Given the description of an element on the screen output the (x, y) to click on. 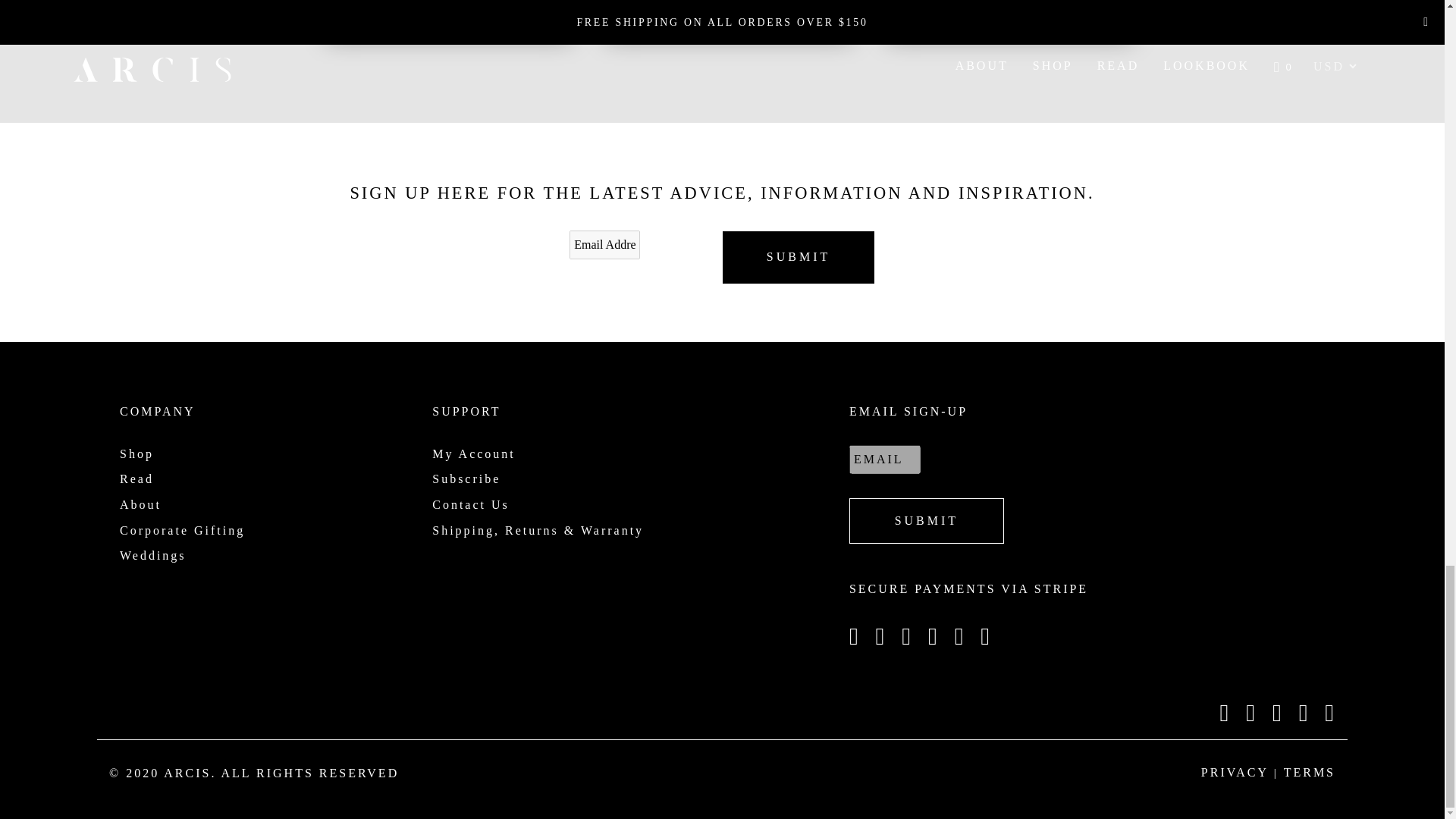
Read (136, 478)
Submit (926, 520)
Corporate Gifting (181, 530)
My Account (473, 453)
About (140, 504)
Shop (136, 453)
Weddings (152, 554)
Submit (798, 257)
Submit (798, 257)
